Given the description of an element on the screen output the (x, y) to click on. 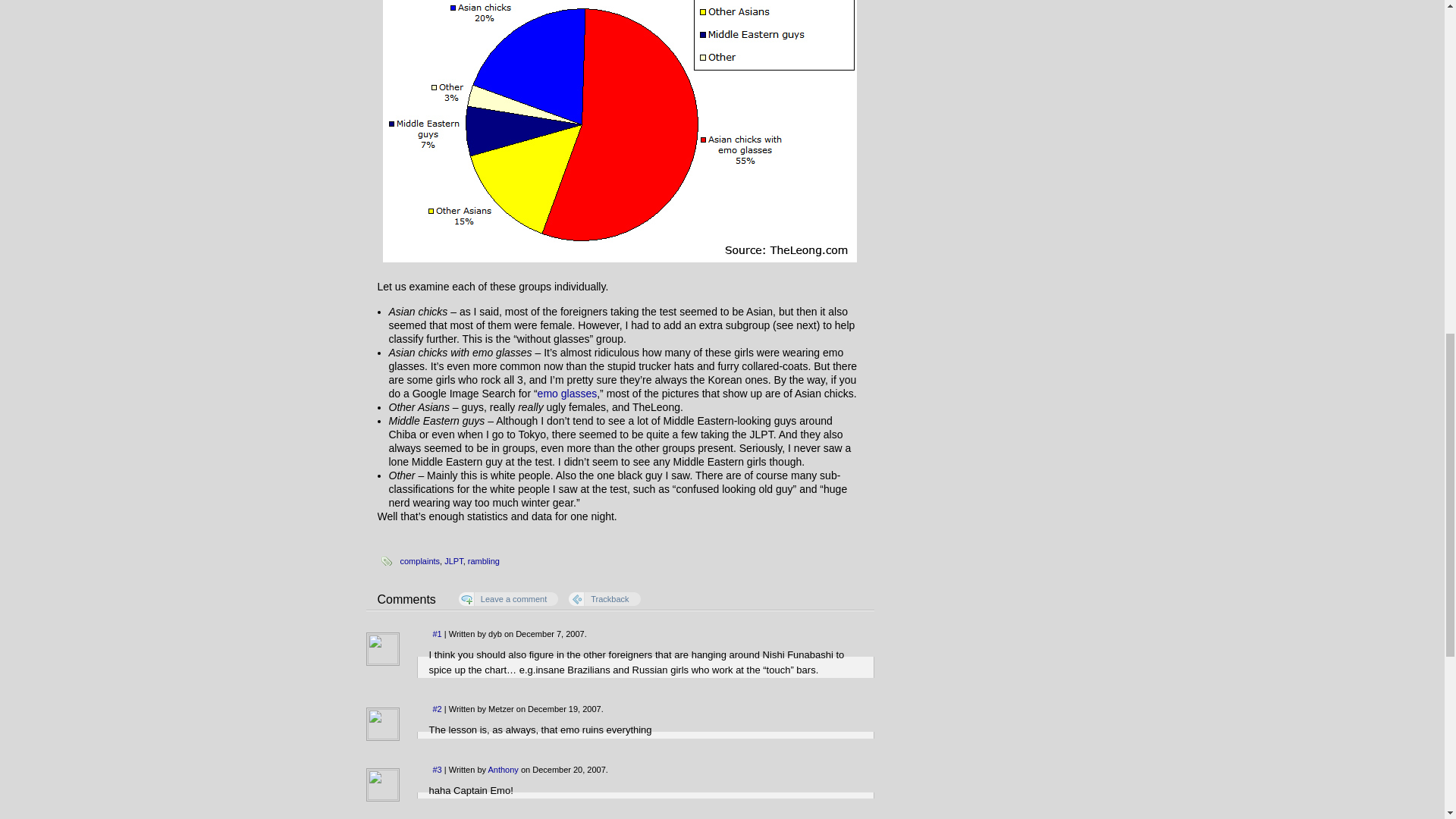
complaints (420, 560)
emo glasses (566, 393)
Leave a comment (507, 599)
Anthony (502, 768)
Trackback (604, 599)
rambling (483, 560)
JLPT (453, 560)
